Given the description of an element on the screen output the (x, y) to click on. 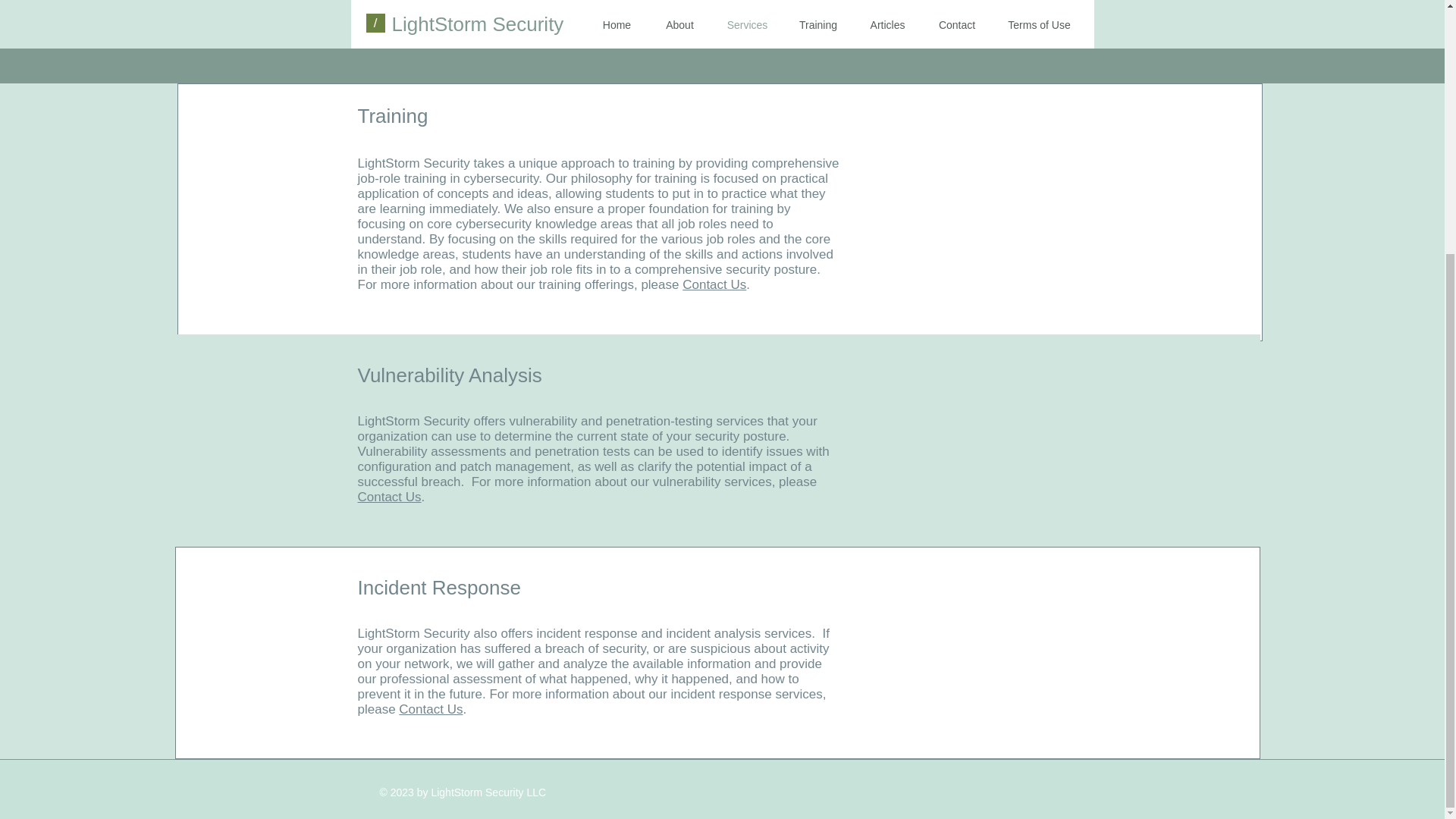
Contact Us (430, 708)
Contact Us (713, 284)
Contact Us (390, 496)
